Given the description of an element on the screen output the (x, y) to click on. 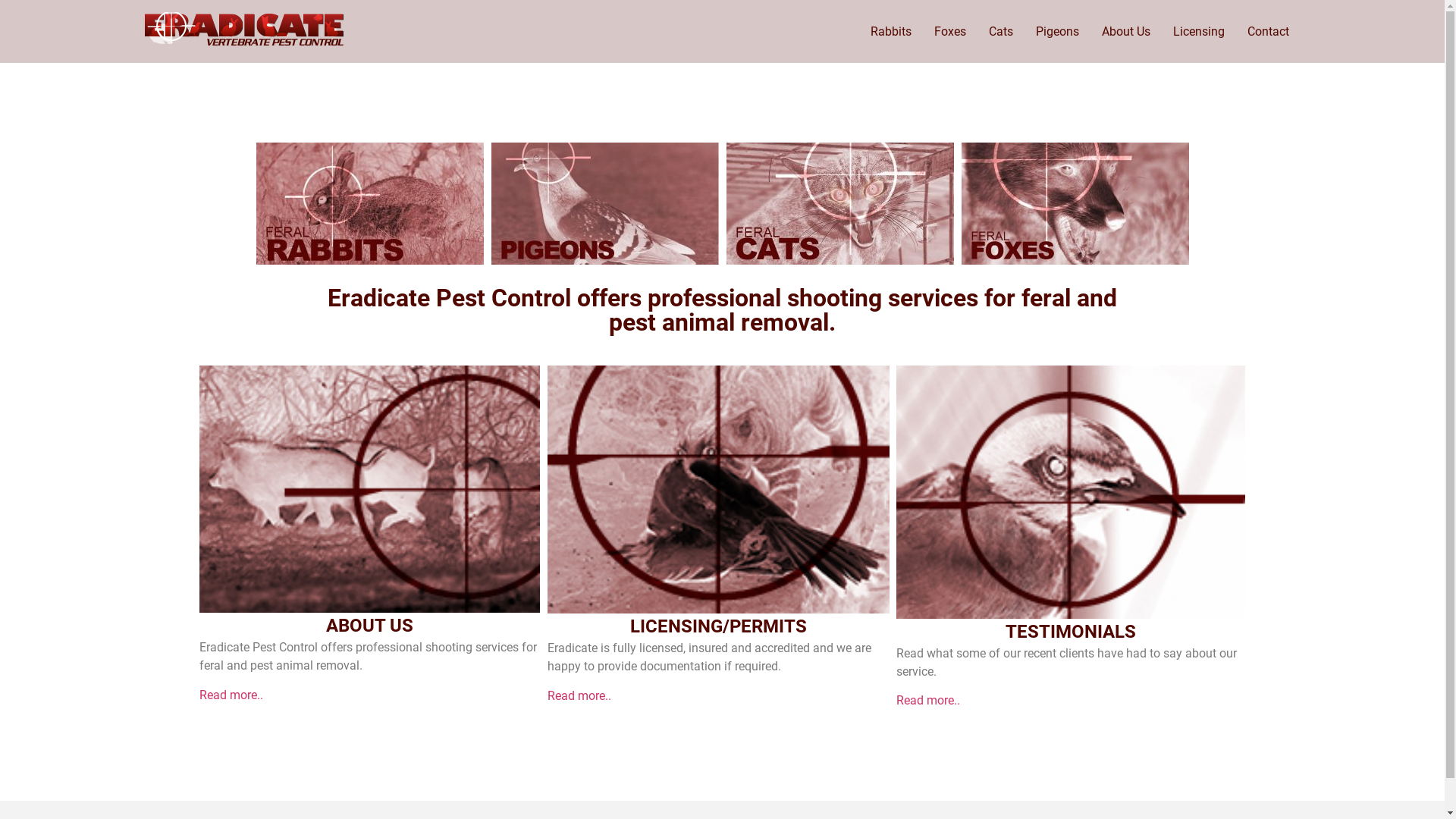
Contact Element type: text (1268, 31)
Foxes Element type: text (949, 31)
Rabbits Element type: text (890, 31)
Rabbits Element type: text (722, 86)
About Us Element type: text (1125, 31)
Cats Element type: text (999, 31)
Read more.. Element type: text (579, 695)
Pigeons Element type: text (1056, 31)
Licensing Element type: text (1198, 31)
Read more.. Element type: text (230, 694)
Read more.. Element type: text (928, 700)
